Given the description of an element on the screen output the (x, y) to click on. 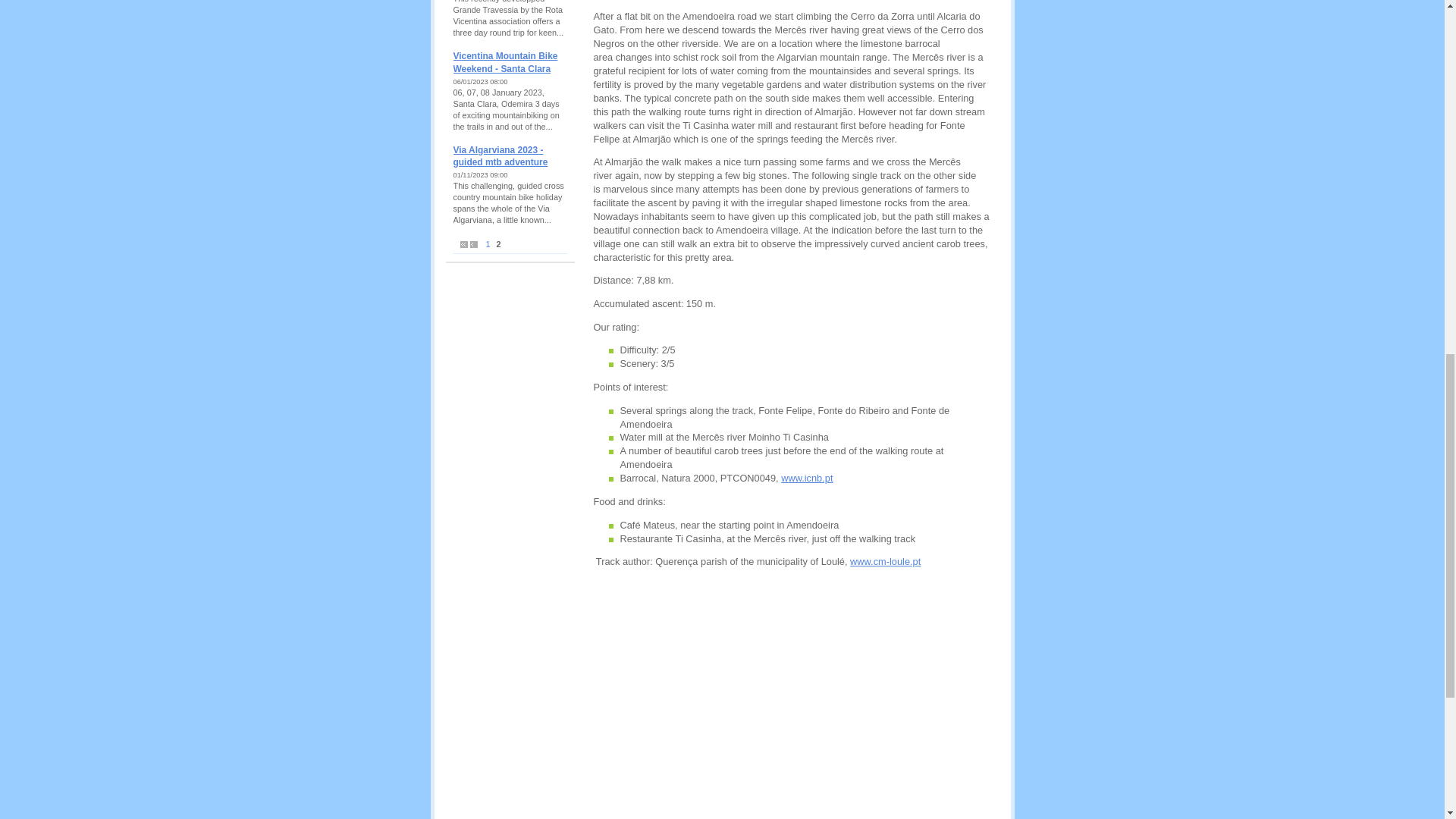
www.cm-loule.pt (885, 561)
www.icnb.pt (806, 478)
Vicentina Mountain Bike Weekend - Santa Clara (504, 62)
Via Algarviana 2023 - guided mtb adventure (500, 156)
Go to the previous page. (473, 244)
Go to the first page. (463, 244)
1 (486, 244)
